Given the description of an element on the screen output the (x, y) to click on. 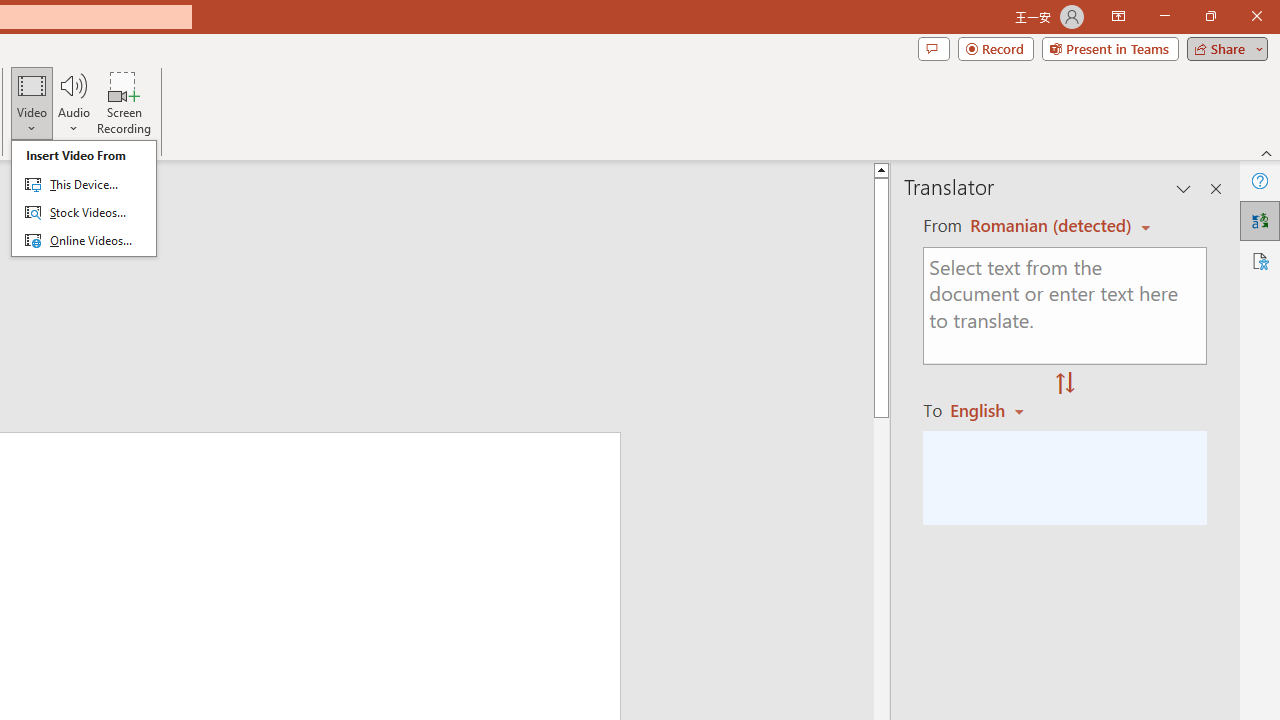
Romanian (994, 409)
&Video (84, 198)
